Given the description of an element on the screen output the (x, y) to click on. 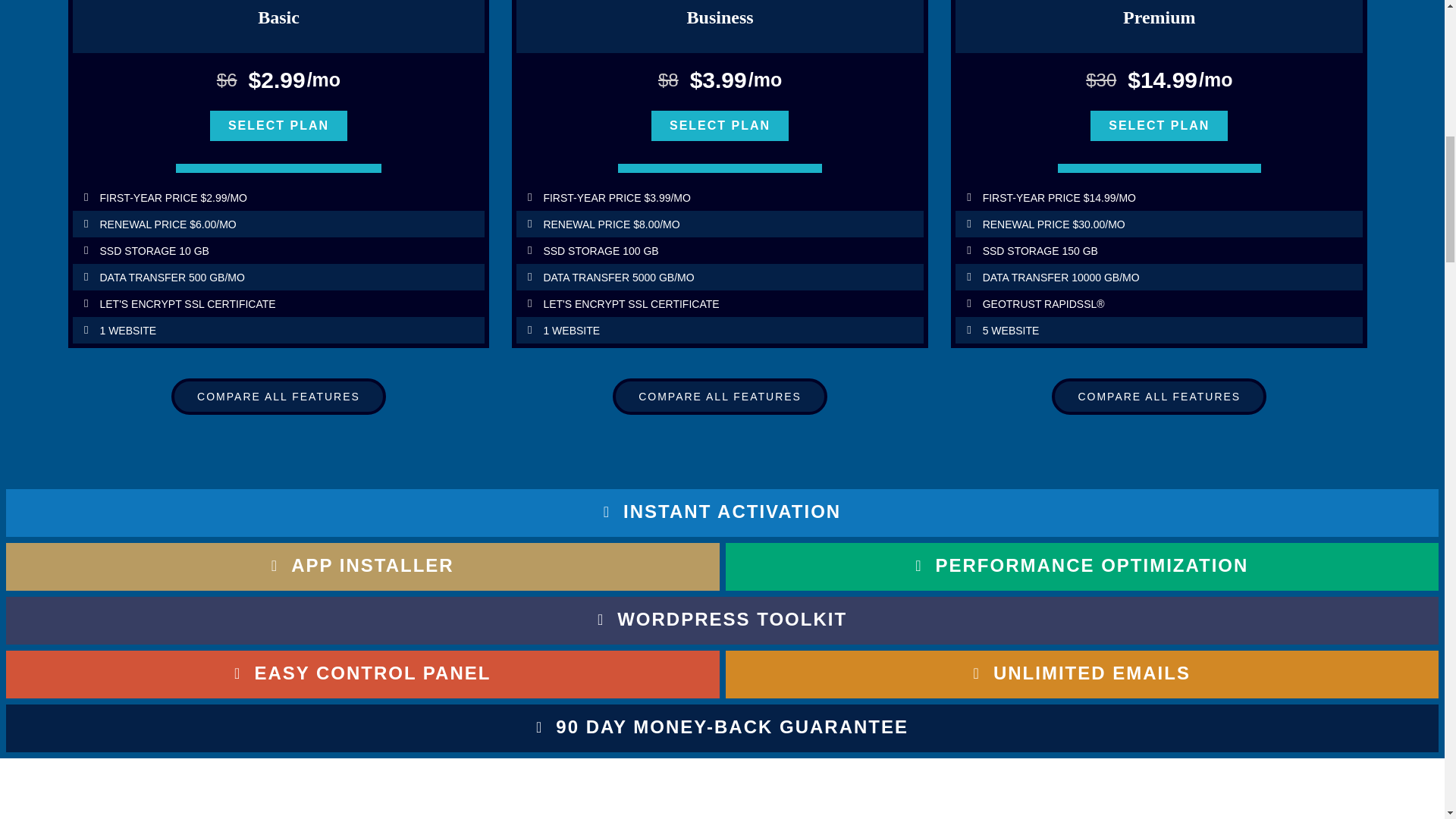
EASY CONTROL PANEL (362, 676)
90 DAY MONEY-BACK GUARANTEE (721, 730)
PERFORMANCE OPTIMIZATION (1081, 569)
SELECT PLAN (719, 125)
SELECT PLAN (1158, 125)
SELECT PLAN (278, 125)
UNLIMITED EMAILS (1082, 676)
COMPARE ALL FEATURES (278, 396)
COMPARE ALL FEATURES (1158, 396)
WORDPRESS TOOLKIT (721, 623)
